Given the description of an element on the screen output the (x, y) to click on. 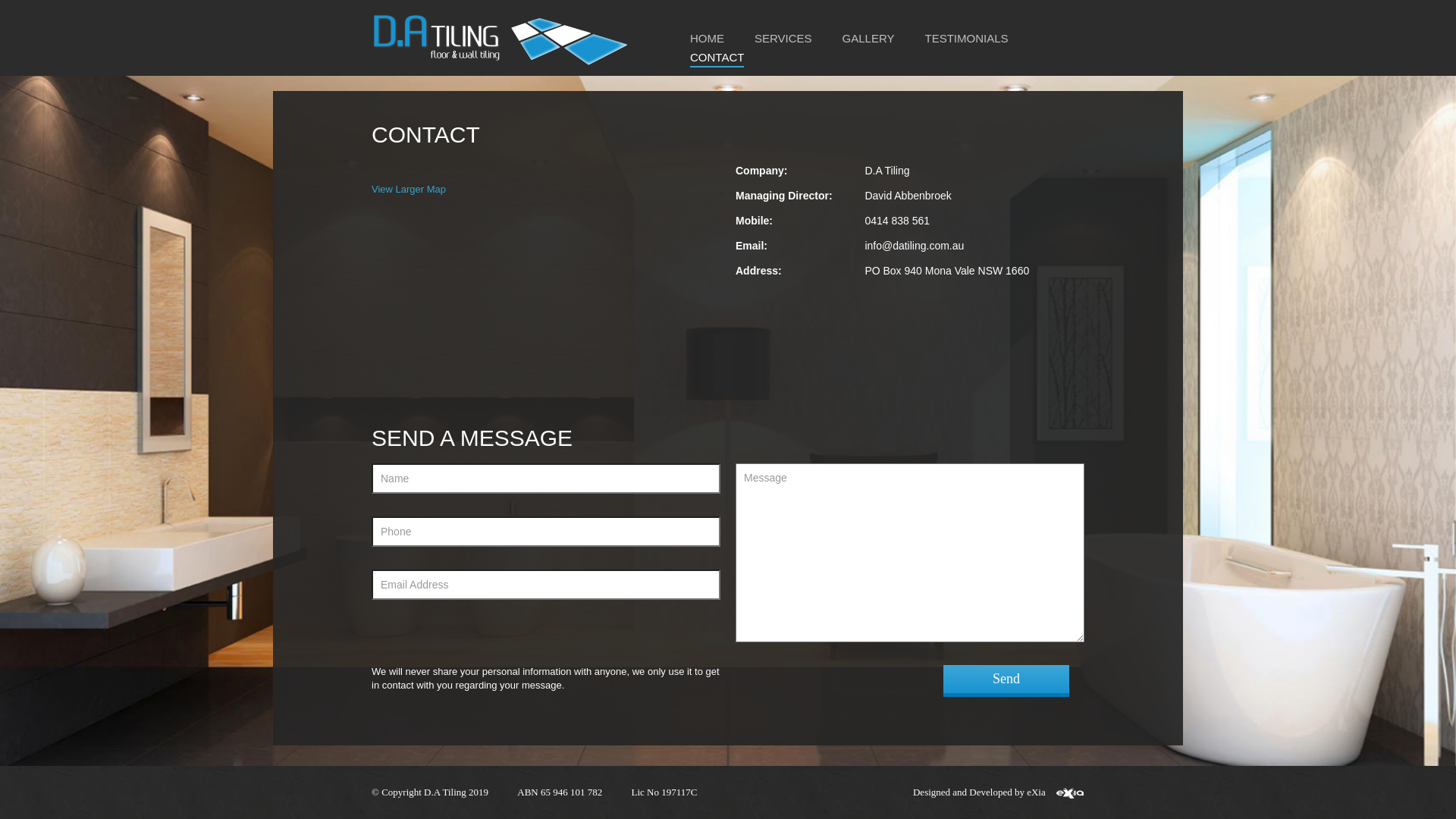
GALLERY Element type: text (868, 39)
View Larger Map Element type: text (408, 188)
HOME Element type: text (707, 39)
SERVICES Element type: text (783, 39)
Send Element type: text (1006, 681)
TESTIMONIALS Element type: text (966, 39)
CONTACT Element type: text (716, 58)
